Given the description of an element on the screen output the (x, y) to click on. 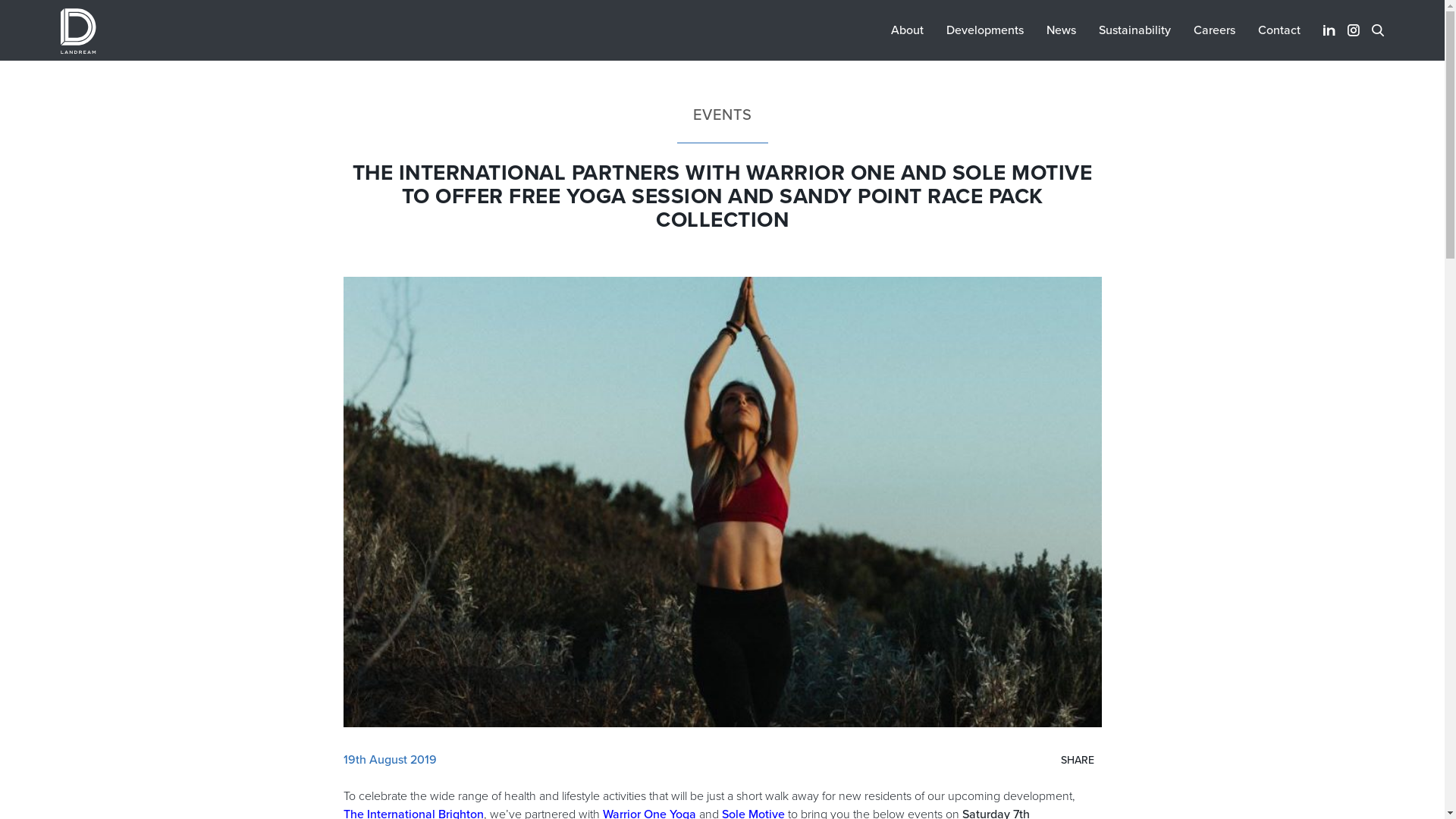
Developments Element type: text (984, 30)
Contact Element type: text (1279, 30)
News Element type: text (1061, 30)
Sustainability Element type: text (1134, 30)
About Element type: text (907, 30)
Careers Element type: text (1214, 30)
